Given the description of an element on the screen output the (x, y) to click on. 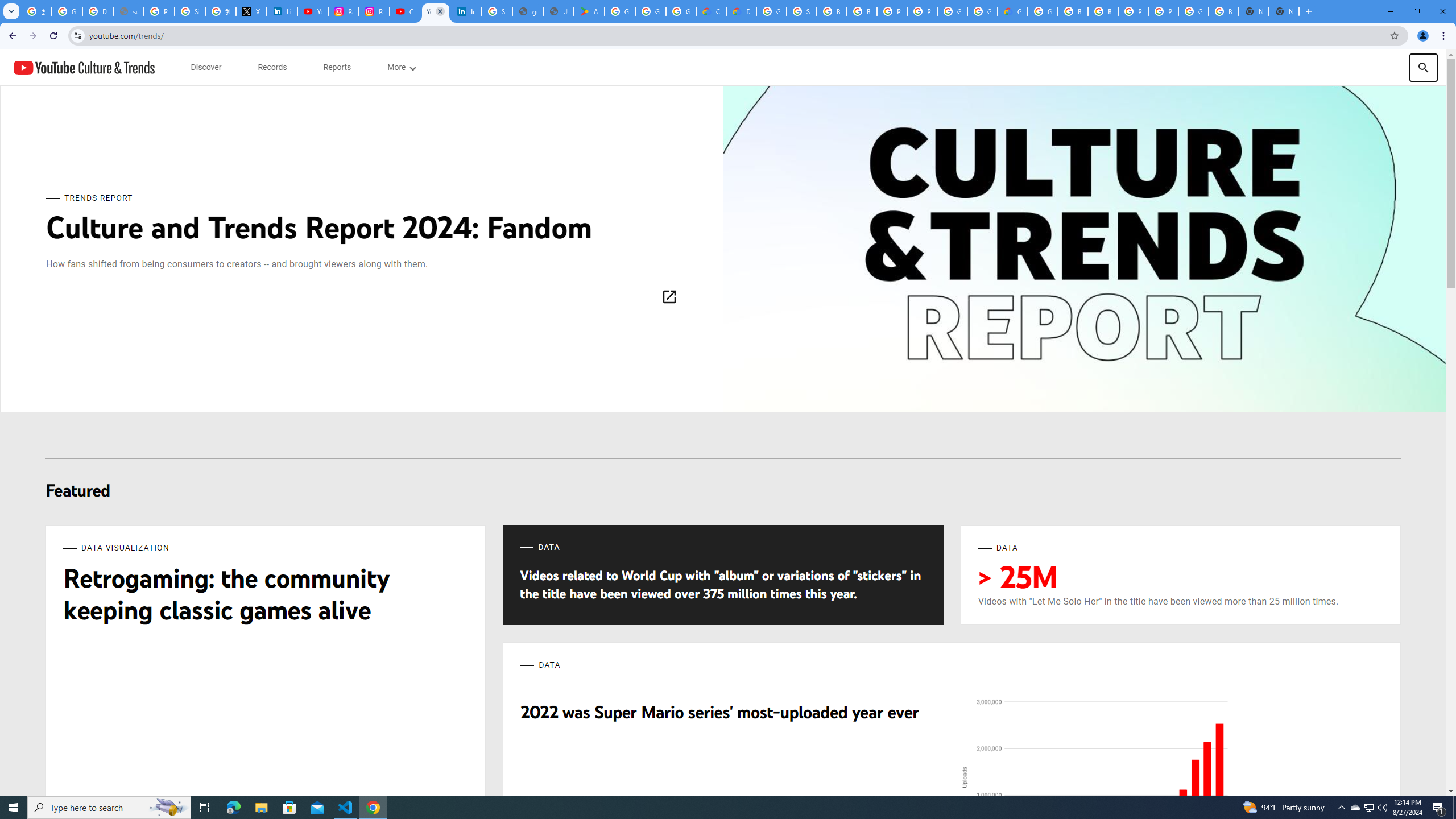
User Details (558, 11)
